Given the description of an element on the screen output the (x, y) to click on. 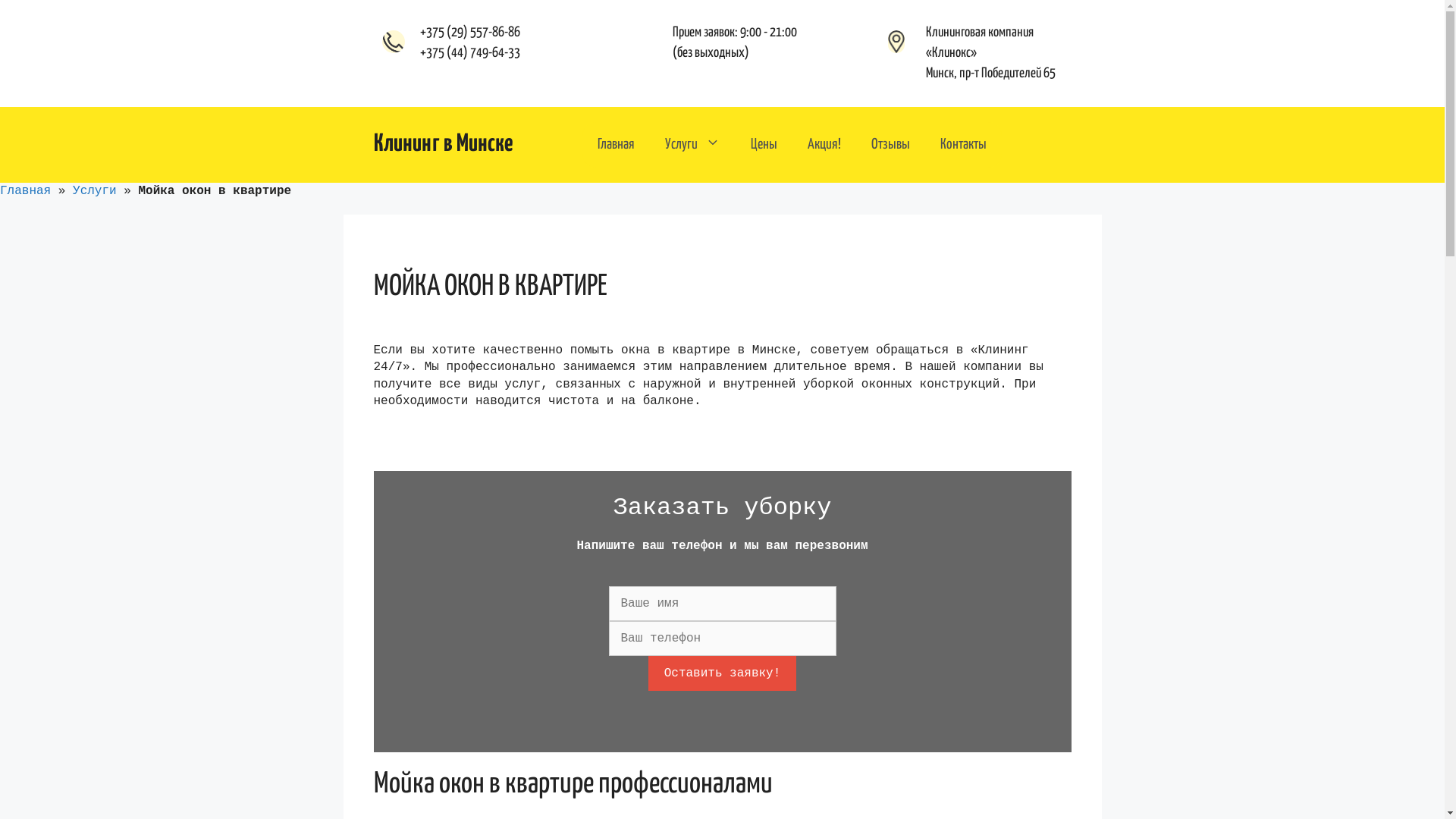
+375 (29) 557-86-86 Element type: text (470, 32)
+375 (44) 749-64-33 Element type: text (470, 52)
